Given the description of an element on the screen output the (x, y) to click on. 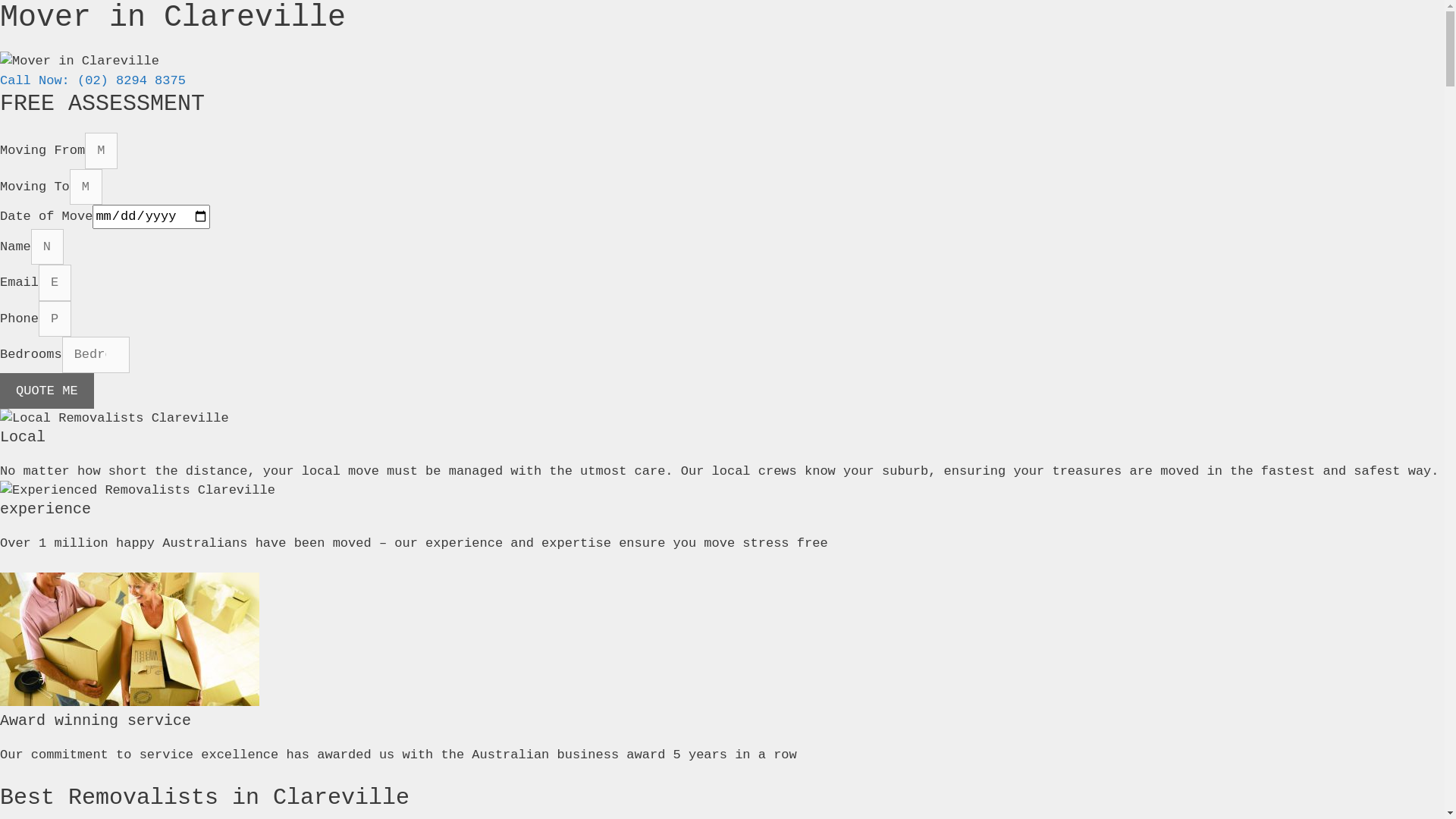
Award Winning Clareville Removal Services Element type: hover (129, 638)
Experienced Removalists Clareville Element type: hover (137, 490)
QUOTE ME Element type: text (47, 391)
Call Now: (02) 8294 8375 Element type: text (92, 79)
Local Removalists Clareville Element type: hover (114, 418)
